Given the description of an element on the screen output the (x, y) to click on. 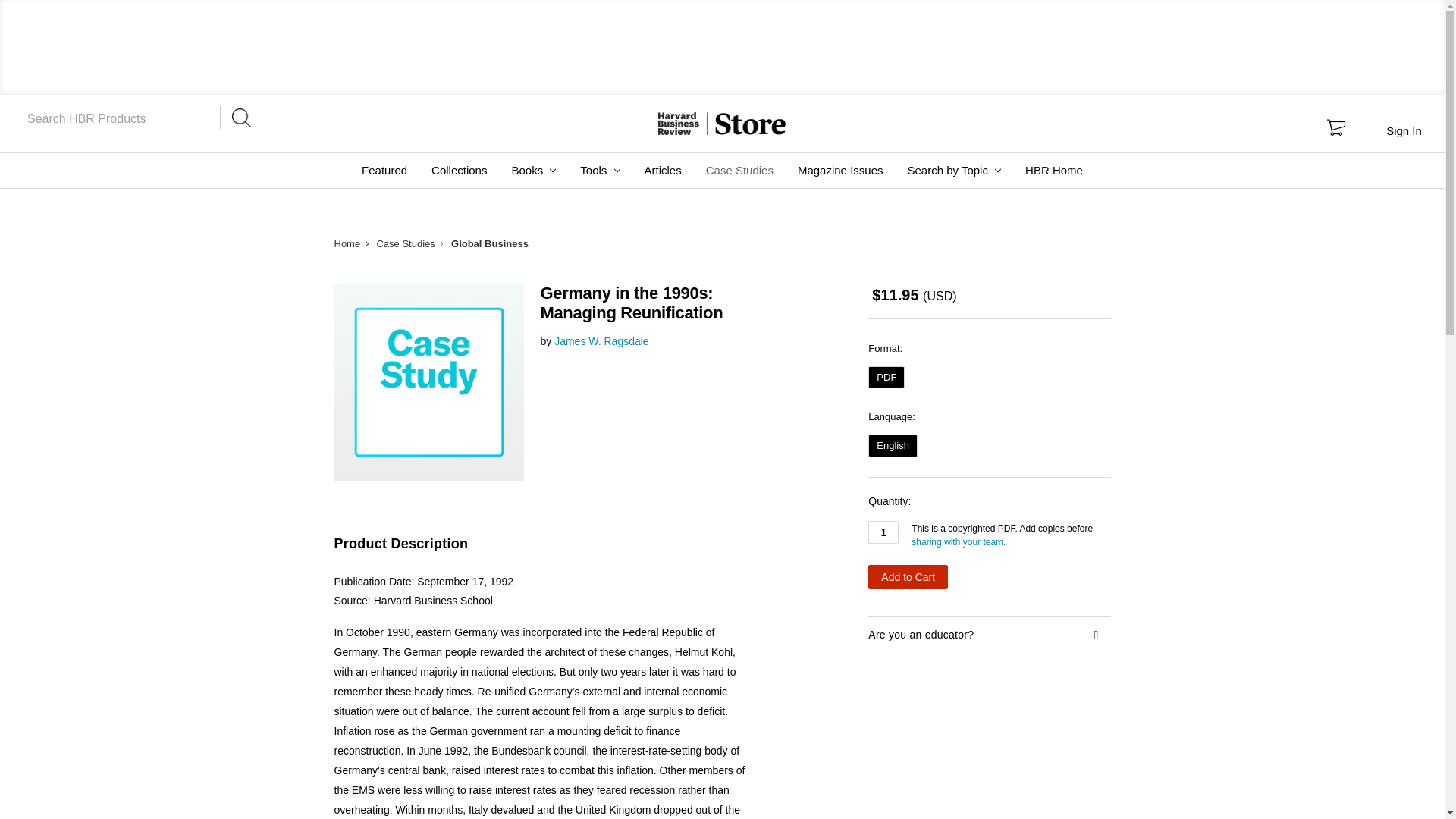
Articles (662, 170)
Opens a widget where you can find more information (1398, 792)
Case Studies (740, 170)
Featured (384, 170)
Books (533, 170)
3rd party ad content (722, 46)
